Given the description of an element on the screen output the (x, y) to click on. 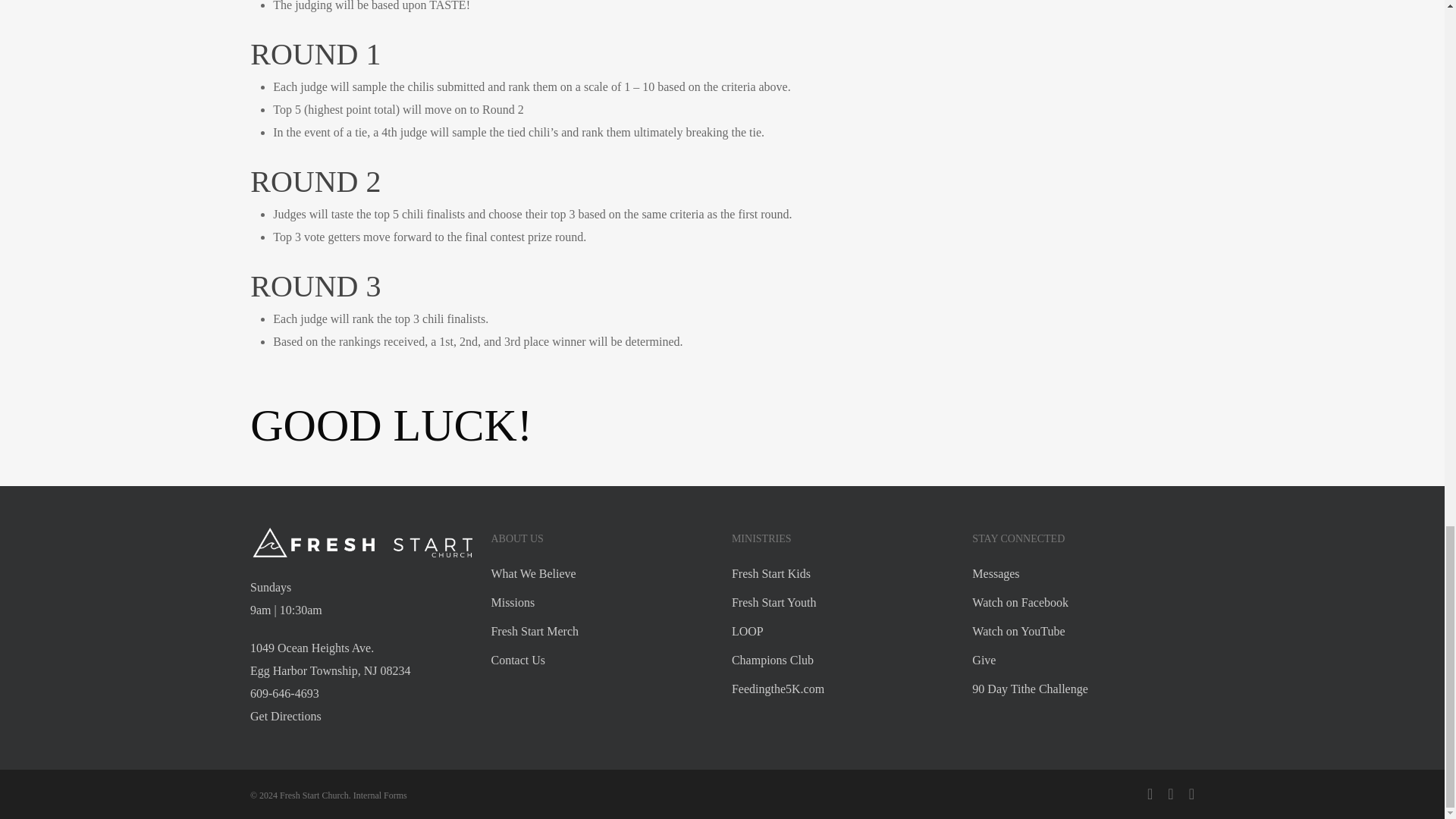
facebook (1170, 793)
Fresh Start Kids (842, 573)
Messages (1082, 573)
instagram (1191, 793)
Missions (601, 602)
Give (1082, 660)
Champions Club (842, 660)
Watch on Facebook (1082, 602)
twitter (1150, 793)
Contact Us (601, 660)
Internal Forms (380, 795)
LOOP (842, 630)
Watch on YouTube (1082, 630)
Get Directions (285, 716)
Fresh Start Youth (842, 602)
